Given the description of an element on the screen output the (x, y) to click on. 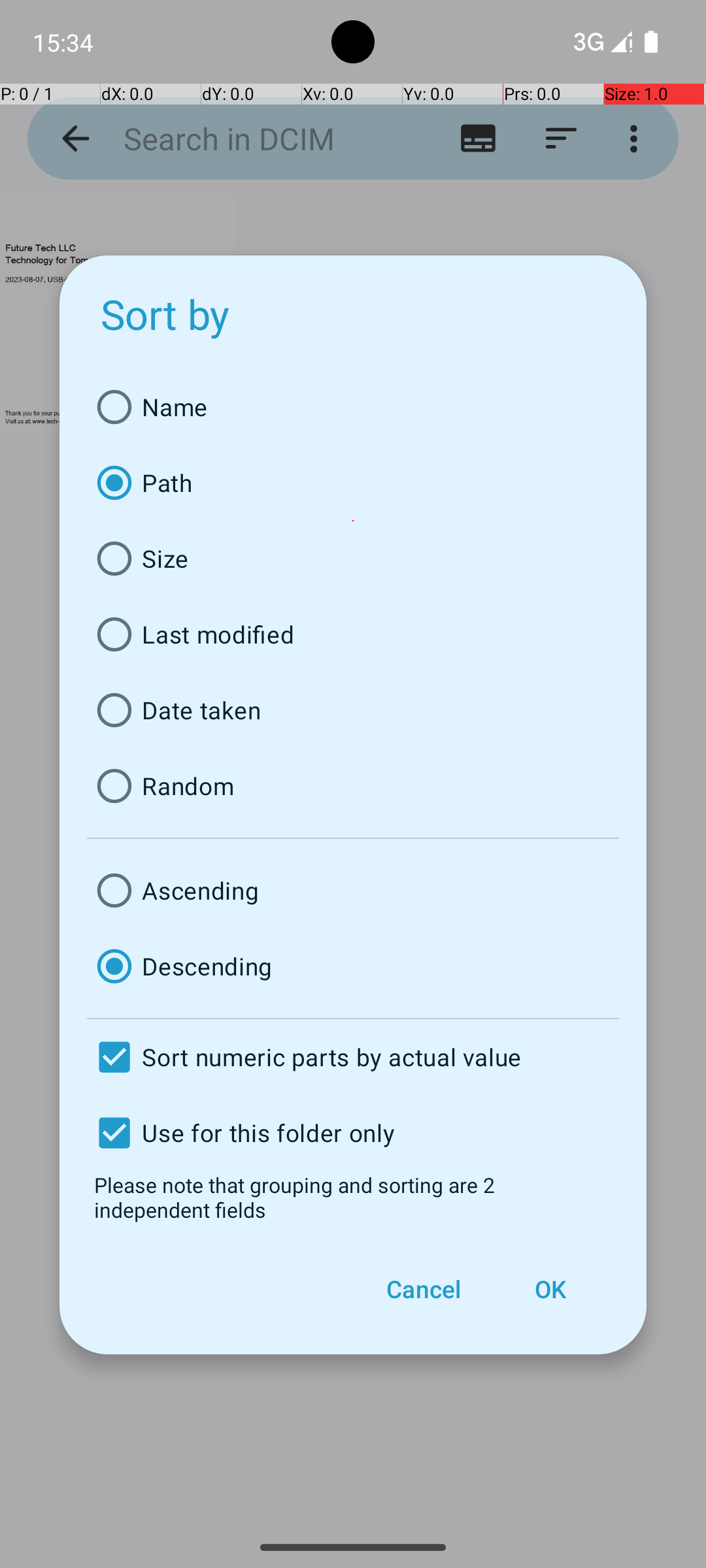
Sort numeric parts by actual value Element type: android.widget.CheckBox (352, 1056)
Use for this folder only Element type: android.widget.CheckBox (352, 1132)
Please note that grouping and sorting are 2 independent fields Element type: android.widget.TextView (352, 1196)
Path Element type: android.widget.RadioButton (352, 482)
Size Element type: android.widget.RadioButton (352, 558)
Last modified Element type: android.widget.RadioButton (352, 634)
Date taken Element type: android.widget.RadioButton (352, 710)
Random Element type: android.widget.RadioButton (352, 785)
Ascending Element type: android.widget.RadioButton (352, 890)
Descending Element type: android.widget.RadioButton (352, 966)
